Given the description of an element on the screen output the (x, y) to click on. 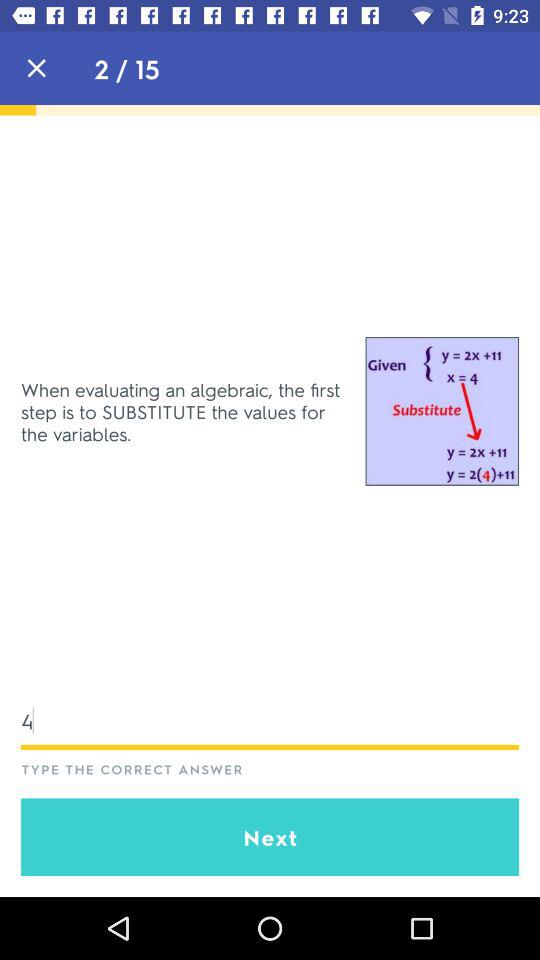
choose 4 icon (270, 720)
